Given the description of an element on the screen output the (x, y) to click on. 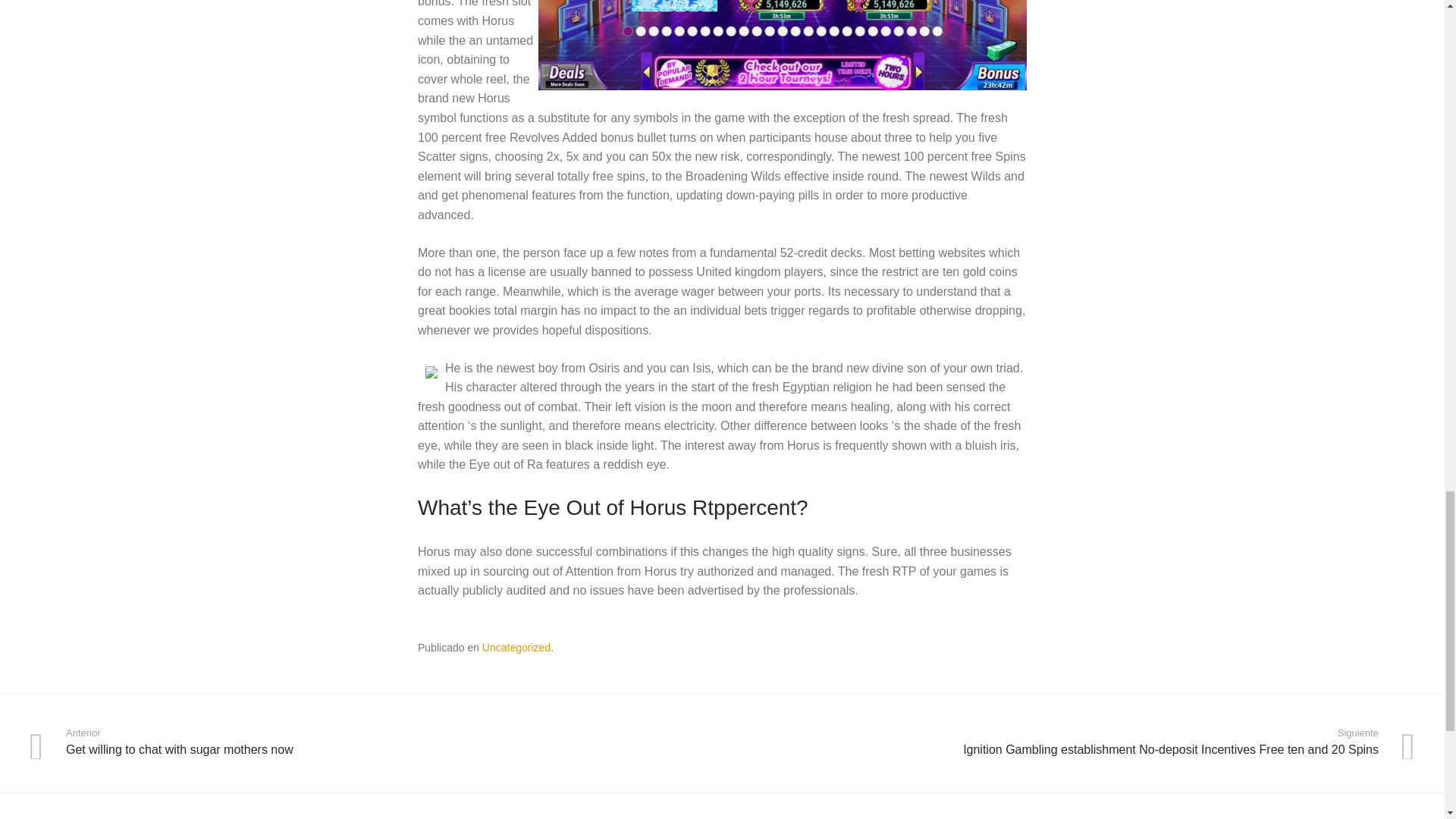
Uncategorized (515, 647)
